Given the description of an element on the screen output the (x, y) to click on. 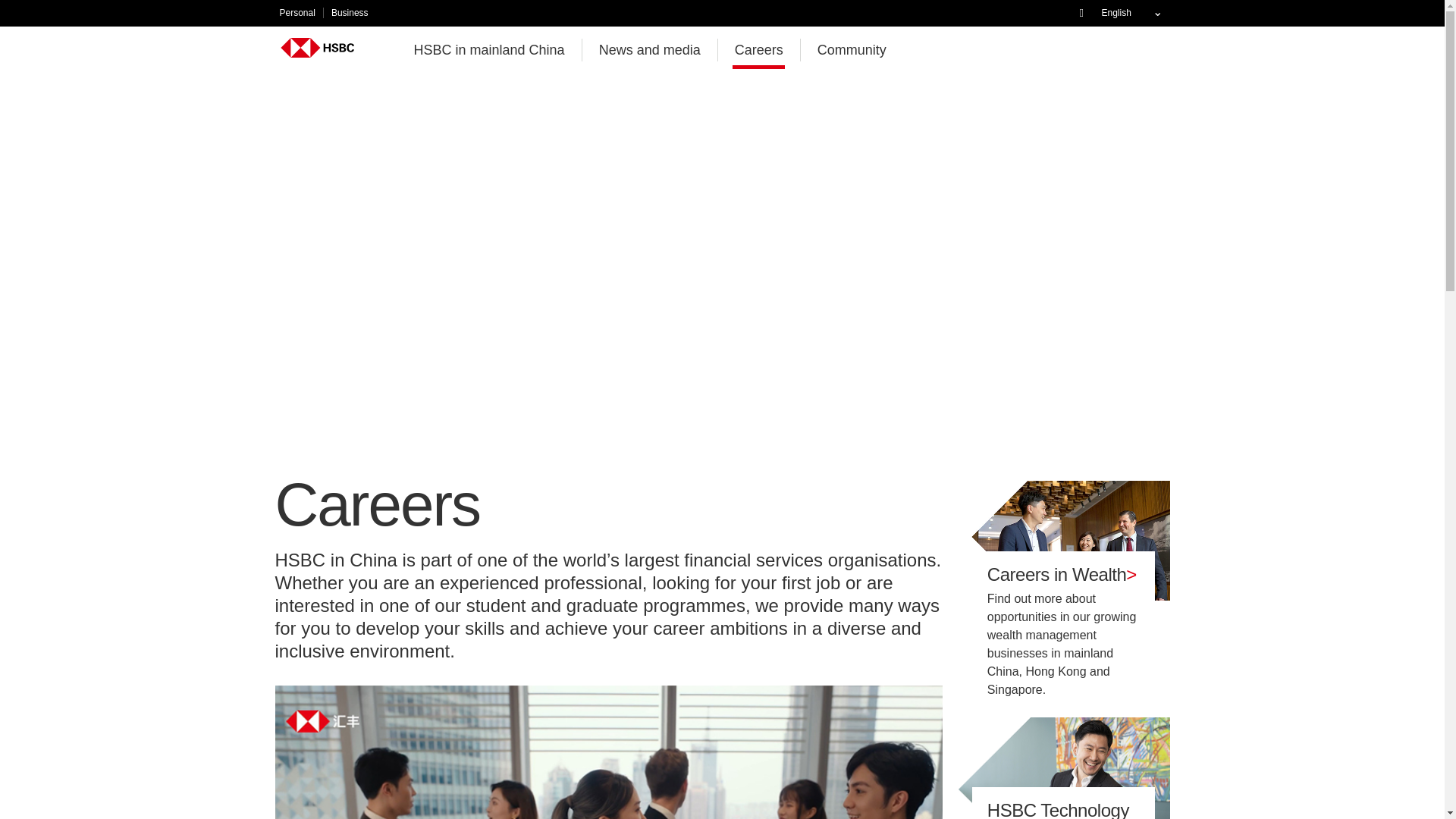
Search (1085, 12)
Play Video (389, 742)
Careers (758, 47)
